Given the description of an element on the screen output the (x, y) to click on. 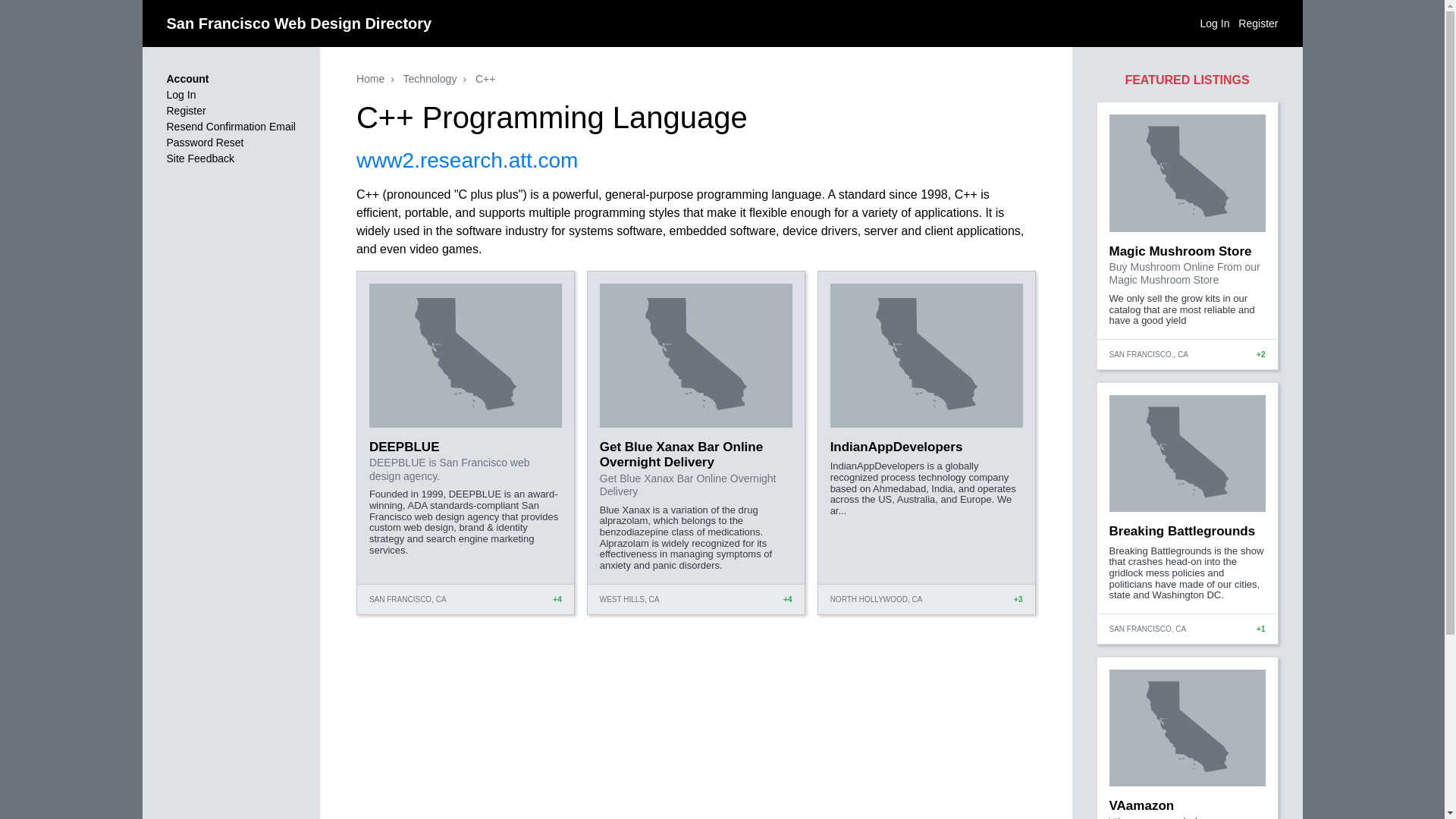
Account (188, 78)
Get Blue Xanax Bar Online Overnight Delivery (680, 454)
VAamazon (1140, 805)
Resend Confirmation Email (231, 126)
Site Feedback (200, 158)
Password Reset (205, 142)
Log In (181, 94)
Magic Mushroom Store (1179, 251)
DEEPBLUE (404, 446)
San Francisco Web Design Directory (299, 23)
